Given the description of an element on the screen output the (x, y) to click on. 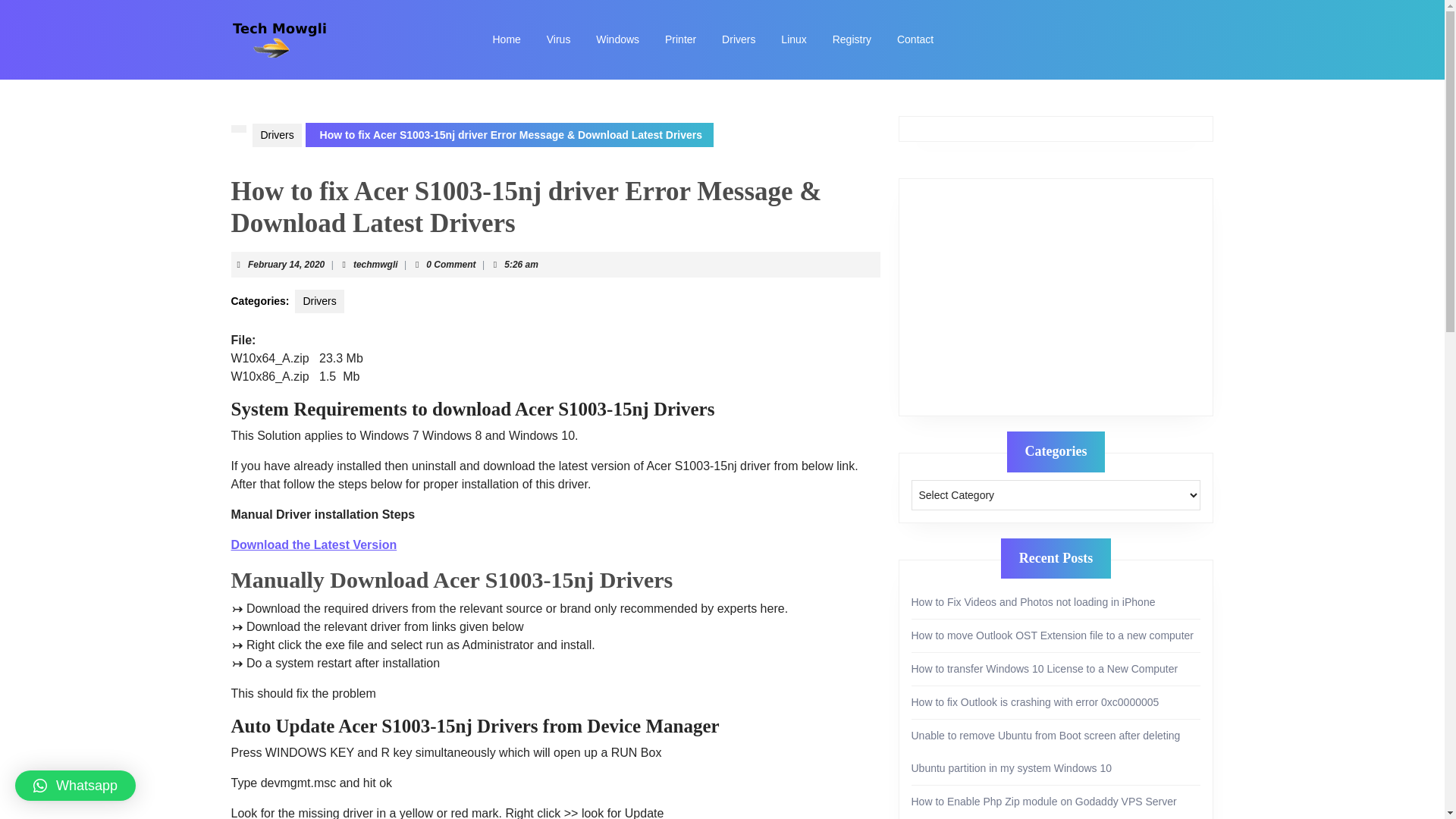
Home (505, 39)
Windows (617, 39)
Drivers (319, 300)
Drivers (738, 39)
Linux (793, 39)
Advertisement (1056, 296)
Download the Latest Version (313, 544)
Virus (558, 39)
Registry (851, 39)
Printer (680, 39)
